Given the description of an element on the screen output the (x, y) to click on. 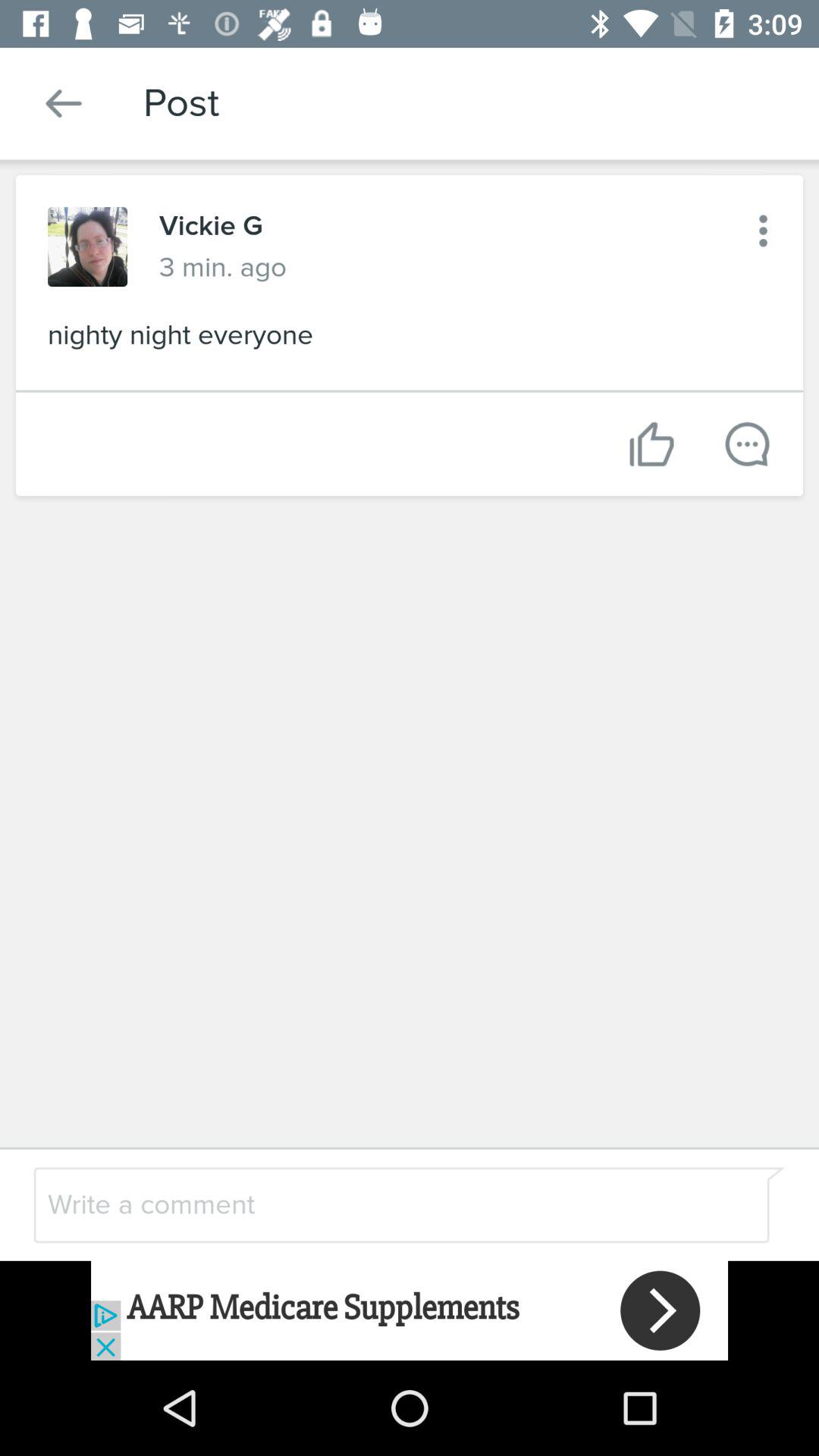
click to message (747, 444)
